Given the description of an element on the screen output the (x, y) to click on. 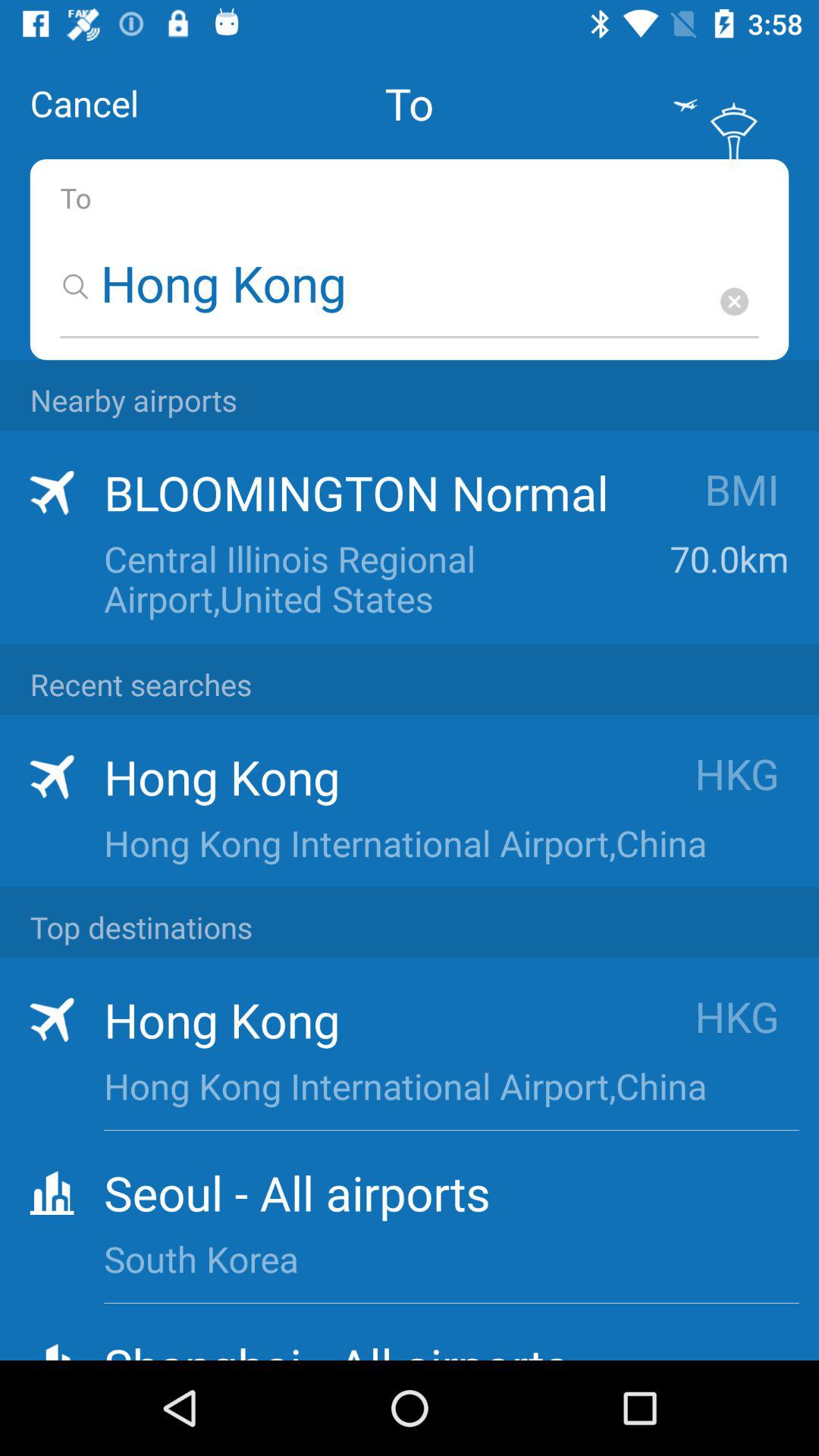
delete/remove keyword (734, 301)
